Given the description of an element on the screen output the (x, y) to click on. 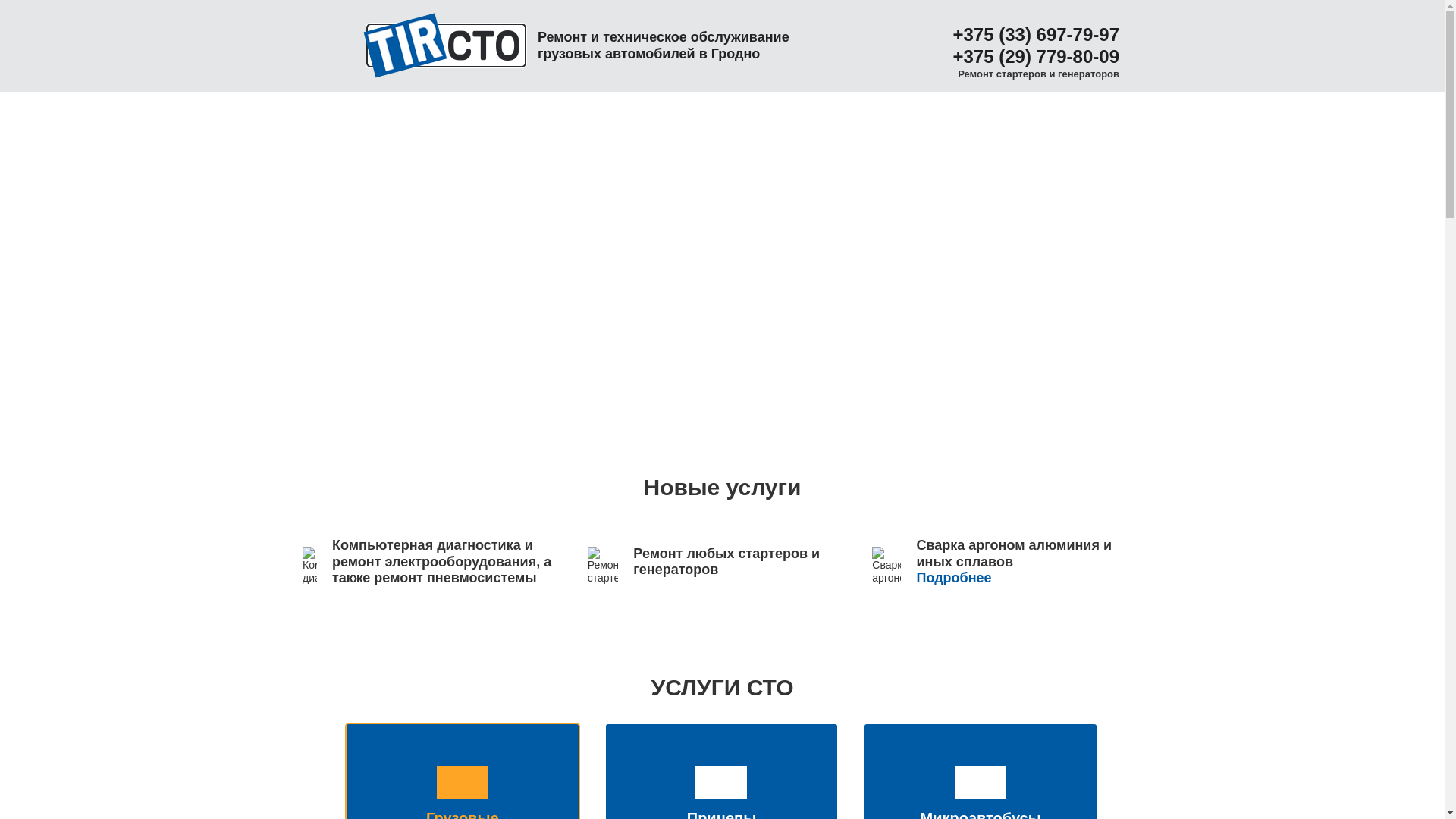
+375 (33) 697-79-97 Element type: text (1031, 35)
+375 (29) 779-80-09 Element type: text (1031, 57)
